Given the description of an element on the screen output the (x, y) to click on. 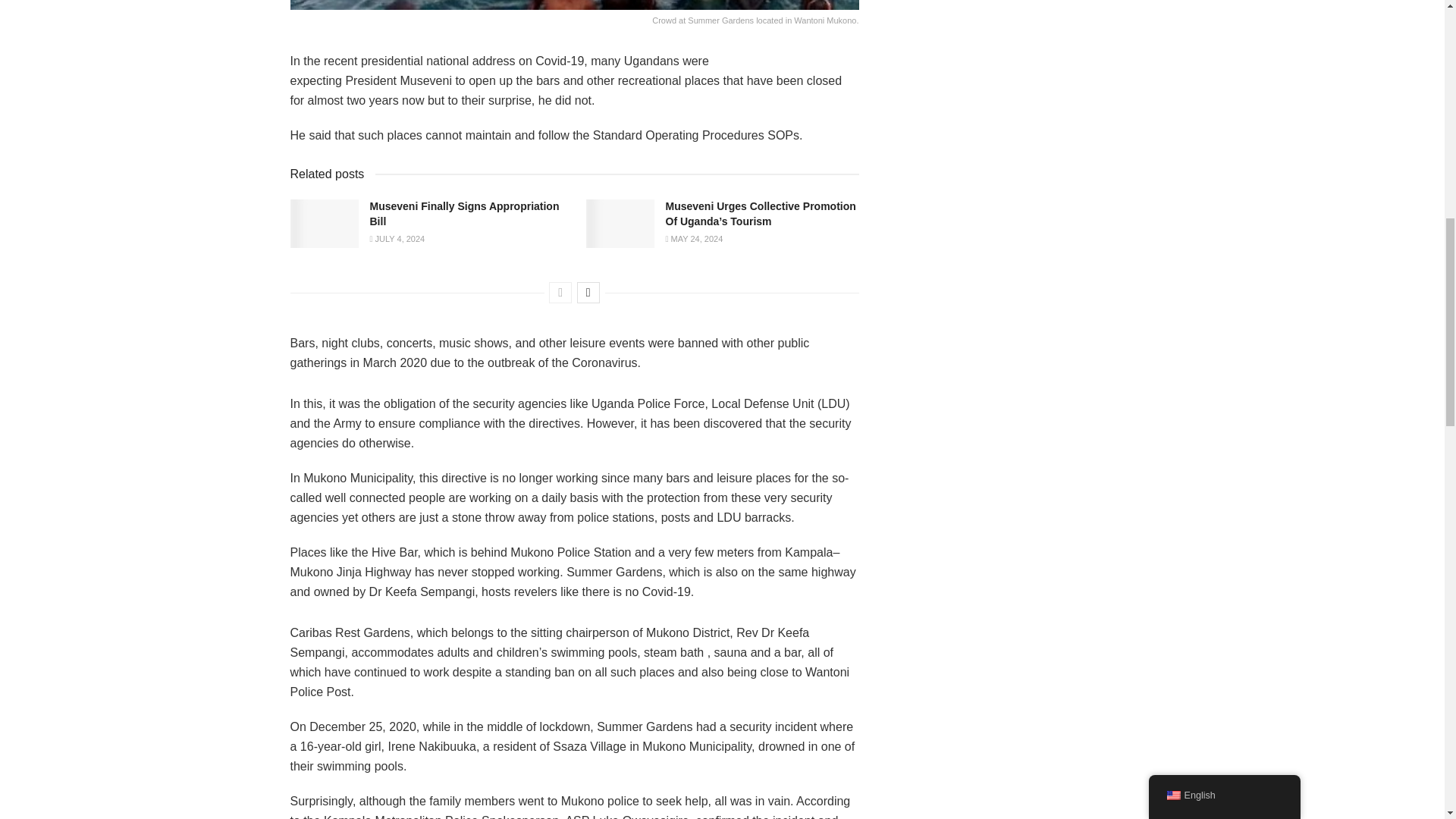
Next (587, 292)
Previous (560, 292)
